Given the description of an element on the screen output the (x, y) to click on. 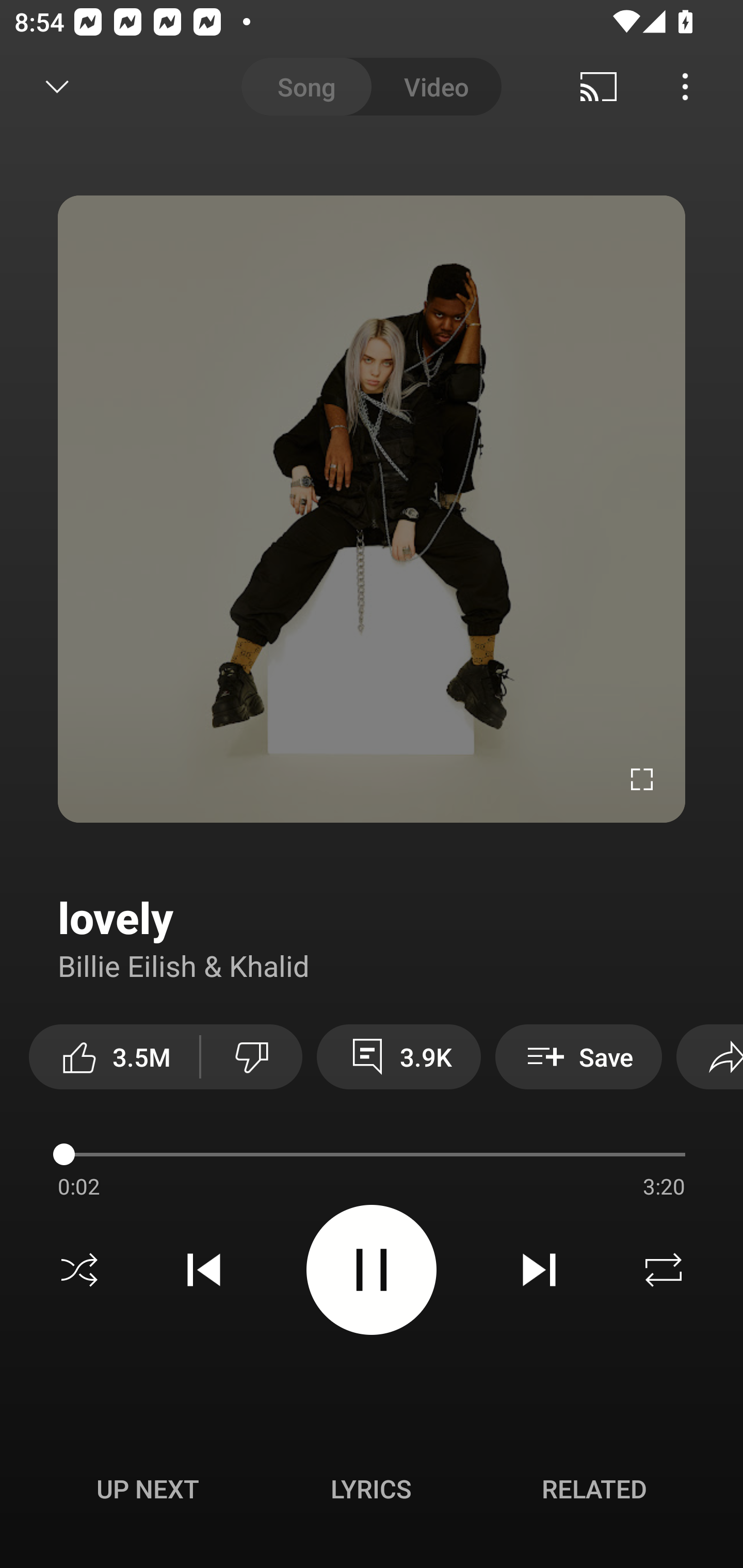
Cast. Disconnected (598, 86)
Menu (684, 86)
Back (50, 86)
Enter fullscreen (641, 779)
Dislike (251, 1056)
3.9K View 3,919 comments (398, 1056)
Save Save to playlist (578, 1056)
Share (709, 1056)
Action menu (371, 1157)
Pause video (371, 1269)
Shuffle off (79, 1269)
Previous track (203, 1269)
Next track (538, 1269)
Repeat off (663, 1269)
Lyrics LYRICS (370, 1488)
Related RELATED (594, 1488)
